Given the description of an element on the screen output the (x, y) to click on. 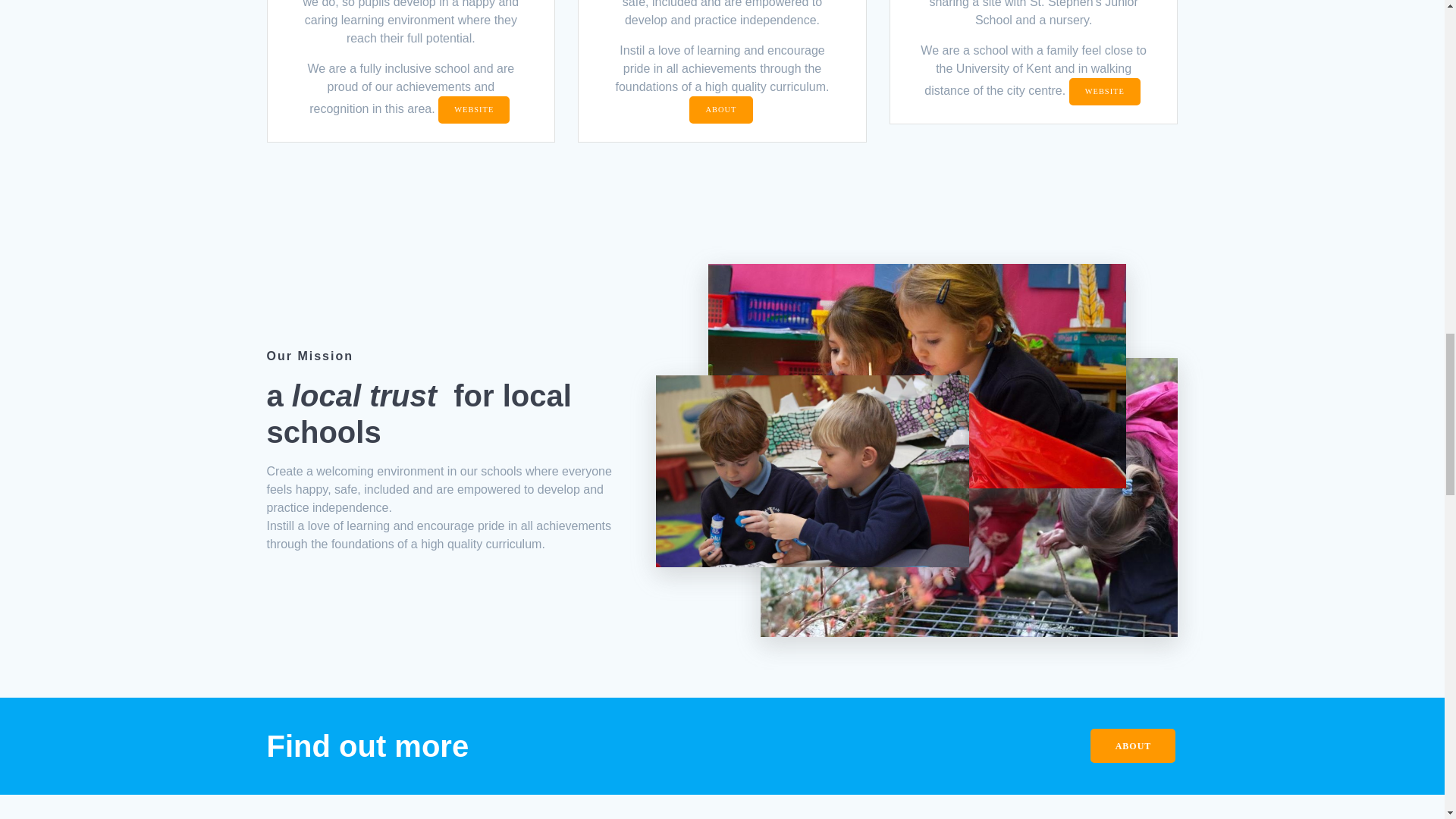
WEBSITE (1104, 91)
cropped-cropped-StStephenChildrenOutdoors.jpeg (968, 497)
ABOUT (1132, 745)
cropped-cropped-ChildrenCharthamPainting.jpeg (916, 375)
ABOUT (720, 109)
cropped-ChildrenCharthamDesk.jpeg (812, 471)
WEBSITE (473, 109)
